Given the description of an element on the screen output the (x, y) to click on. 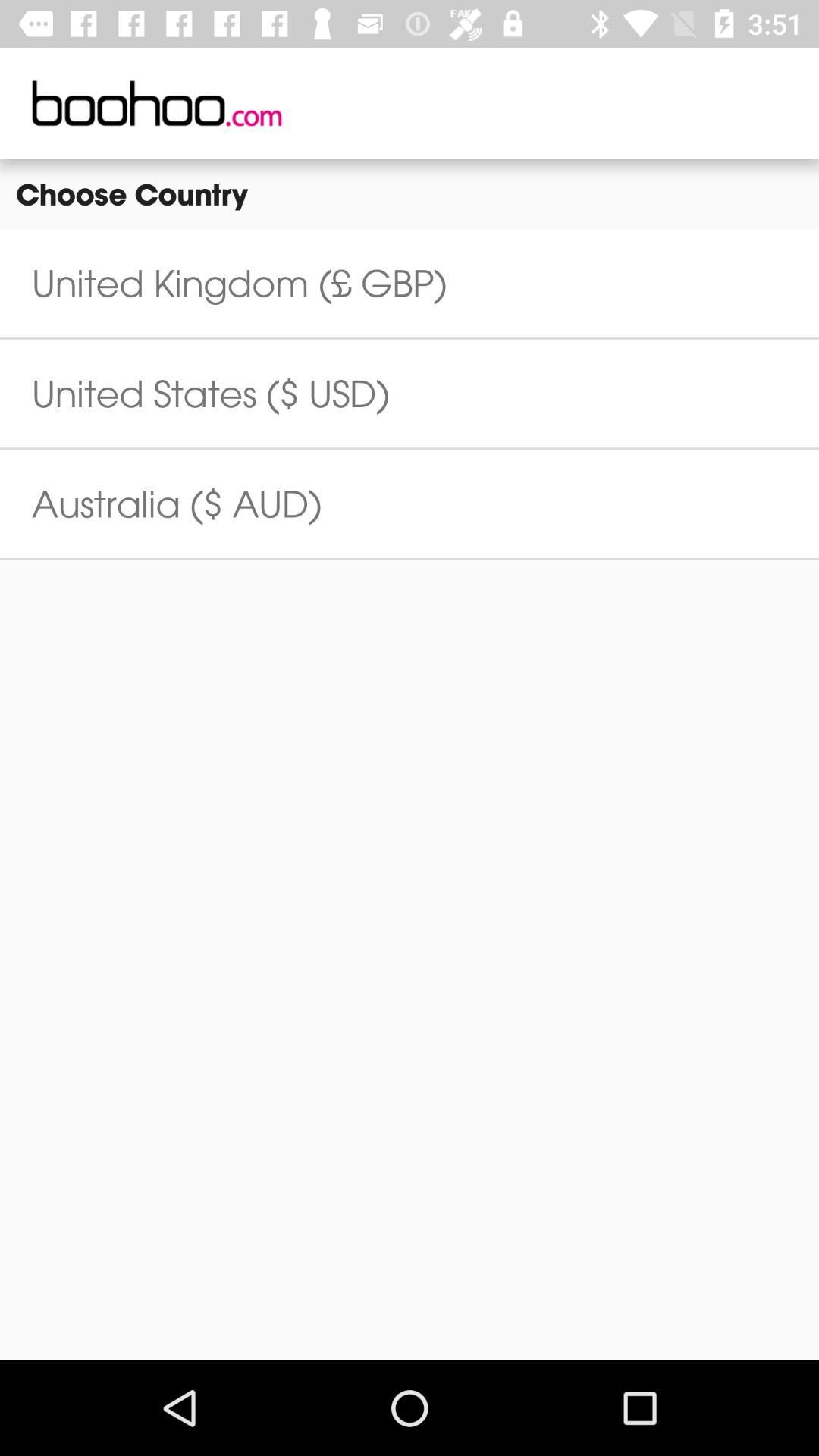
select the united states ($ usd) icon (210, 393)
